Given the description of an element on the screen output the (x, y) to click on. 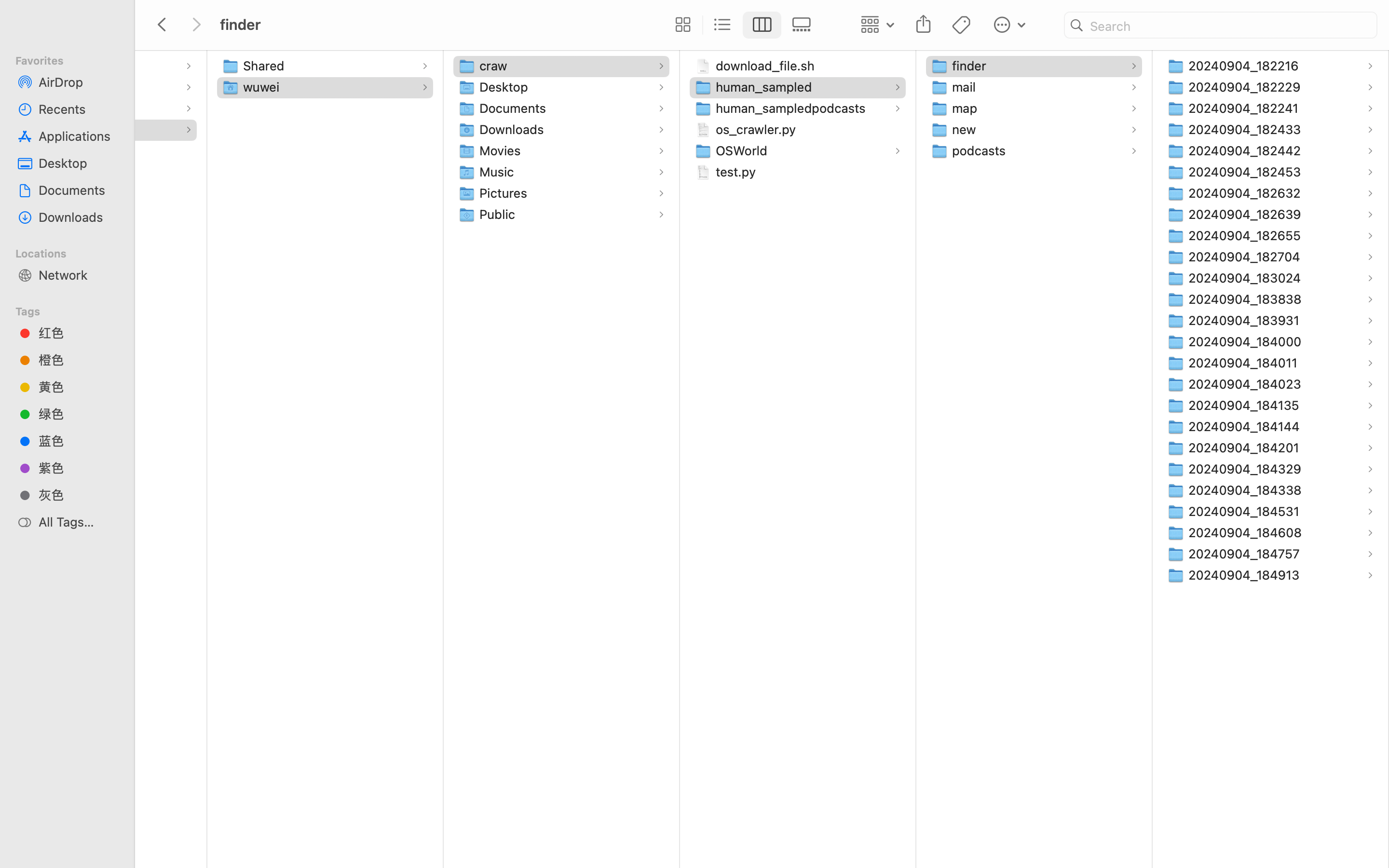
20240904_184757 Element type: AXTextField (1246, 553)
os_crawler.py Element type: AXTextField (757, 128)
20240904_182216 Element type: AXTextField (1245, 65)
红色 Element type: AXStaticText (77, 332)
20240904_184329 Element type: AXTextField (1246, 468)
